Given the description of an element on the screen output the (x, y) to click on. 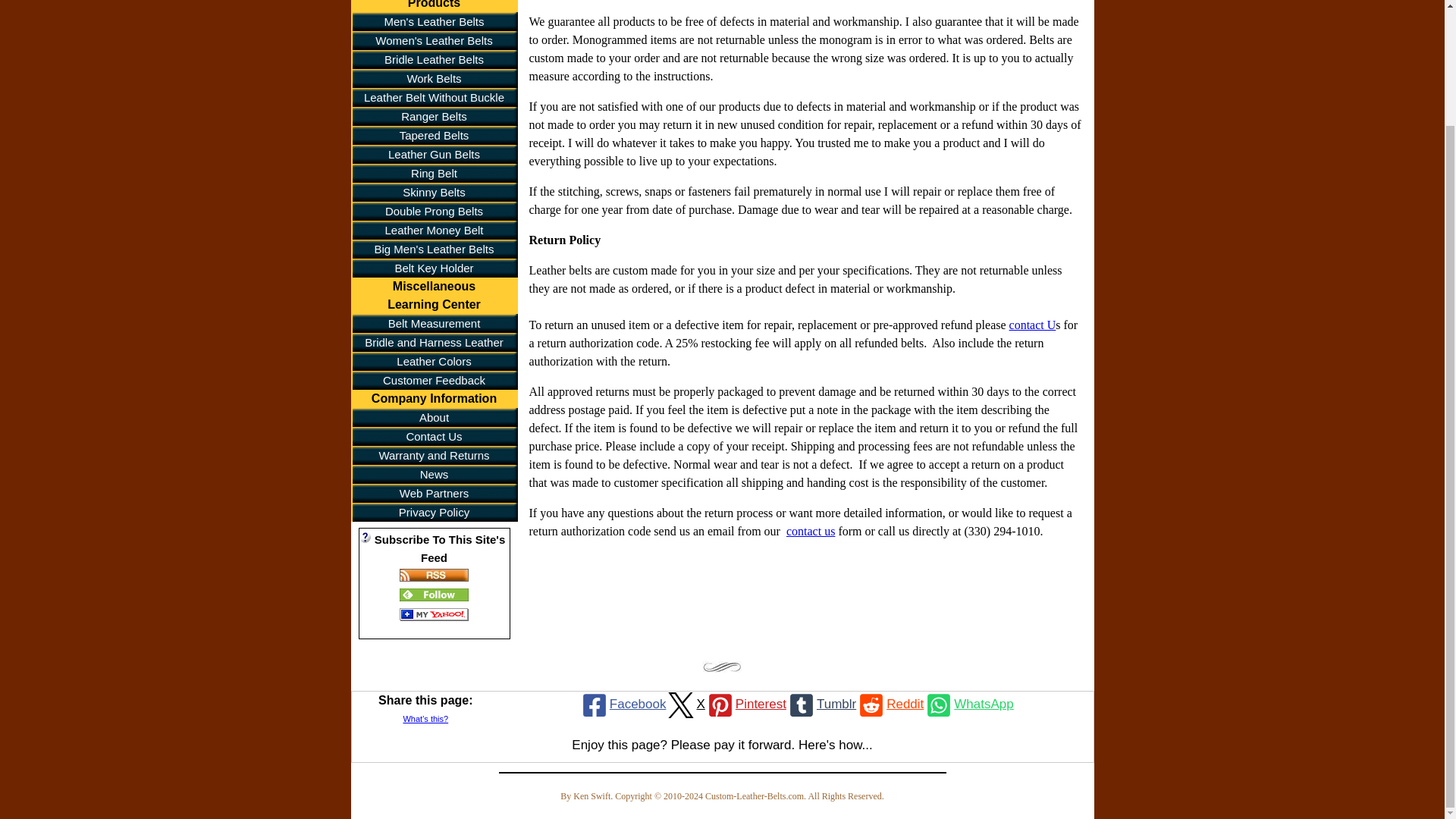
Men's Leather Belts (433, 21)
Work Belts (433, 77)
Contact Us (433, 435)
Bridle and Harness Leather Description (433, 342)
Pinterest (745, 704)
Belt Key Holder (433, 267)
Leather Belt Without Buckle (433, 97)
Facebook (622, 704)
Double Prong Belts (433, 210)
Skinny Belts (433, 191)
